Given the description of an element on the screen output the (x, y) to click on. 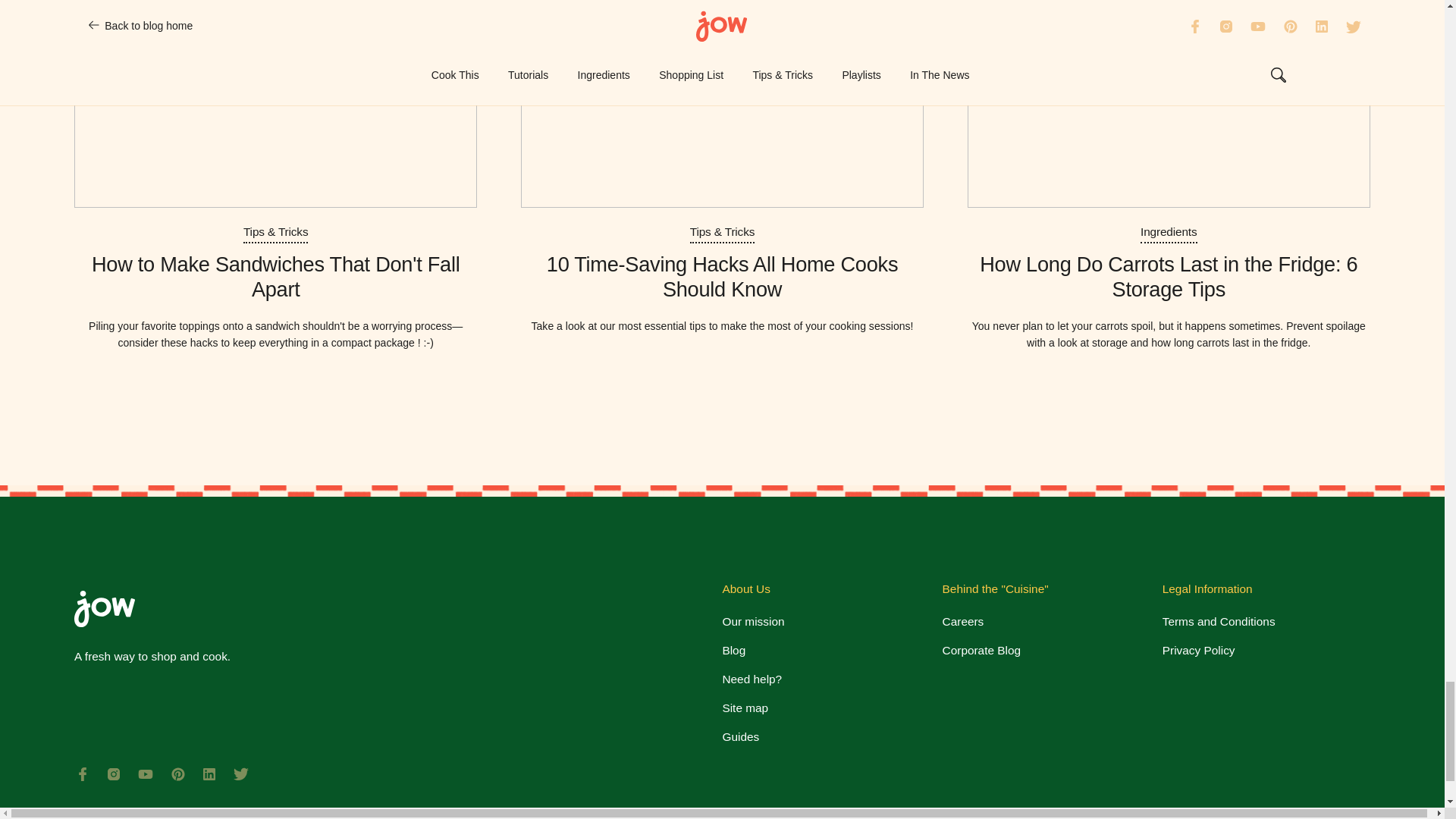
10 Time-Saving Hacks All Home Cooks Should Know (722, 284)
Site map (745, 708)
Need help? (751, 679)
Corporate Blog (982, 649)
Blog (733, 649)
Behind the "Cuisine" (995, 588)
How to Make Sandwiches That Don't Fall Apart (275, 284)
Careers (963, 621)
Ingredients (1168, 232)
Our mission (753, 621)
Guides (740, 736)
How Long Do Carrots Last in the Fridge: 6 Storage Tips (1169, 284)
